Given the description of an element on the screen output the (x, y) to click on. 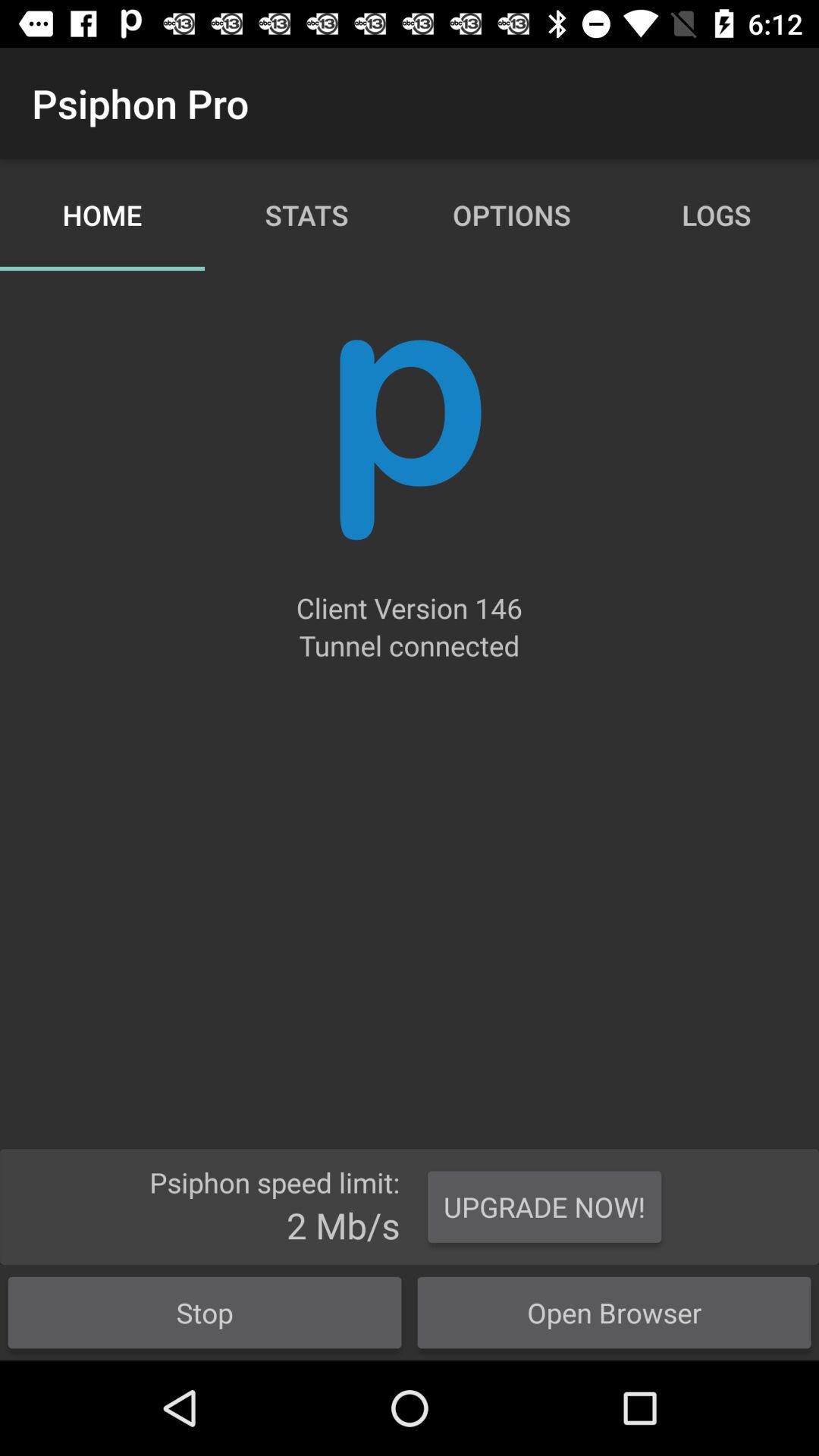
launch button to the right of the stop (614, 1312)
